Given the description of an element on the screen output the (x, y) to click on. 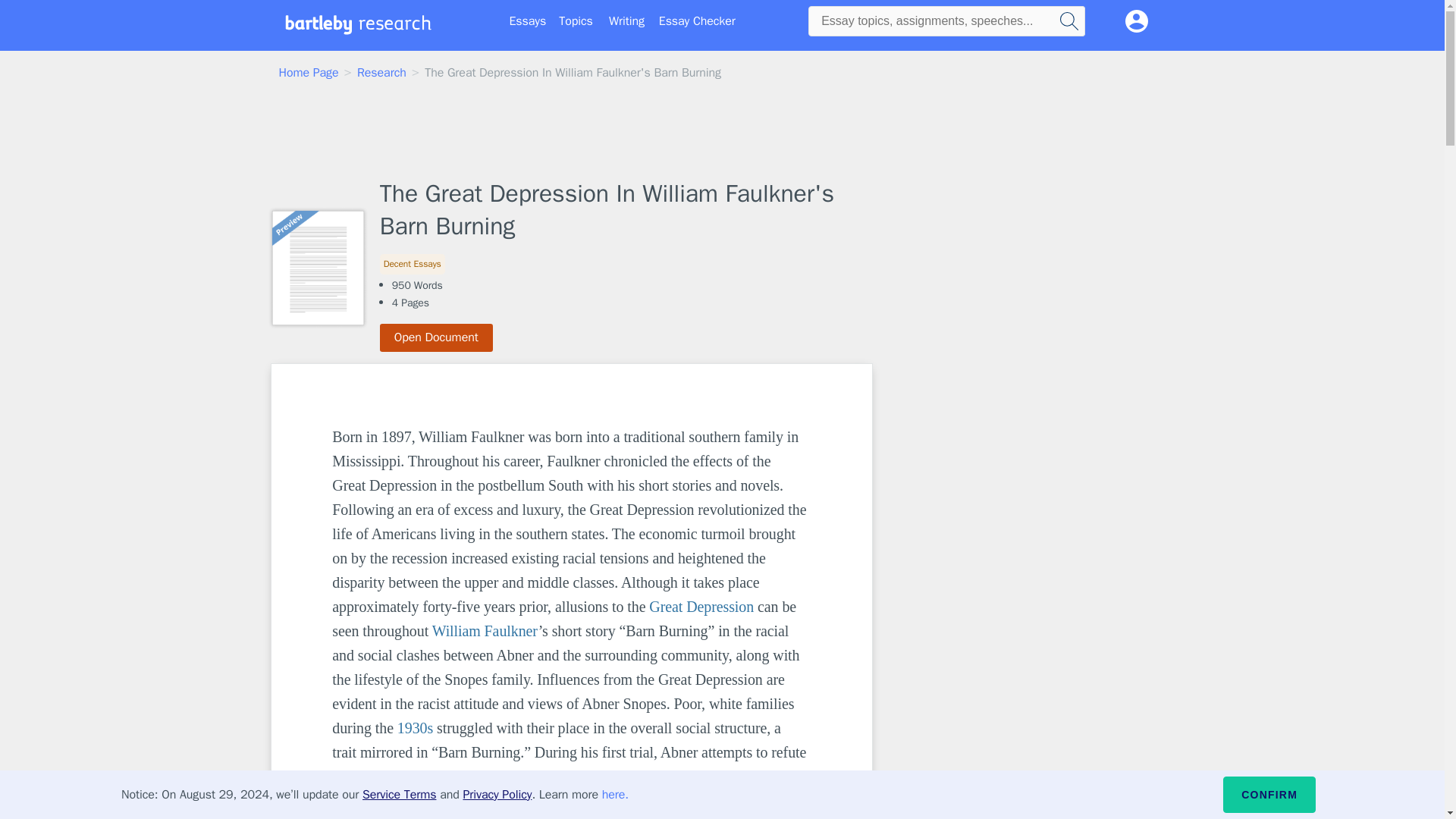
Great Depression (701, 606)
Research (381, 72)
Essays (528, 20)
Open Document (436, 337)
William Faulkner (485, 630)
Writing (626, 20)
Essay Checker (697, 20)
1930s (414, 727)
Topics (575, 20)
Home Page (309, 72)
